Given the description of an element on the screen output the (x, y) to click on. 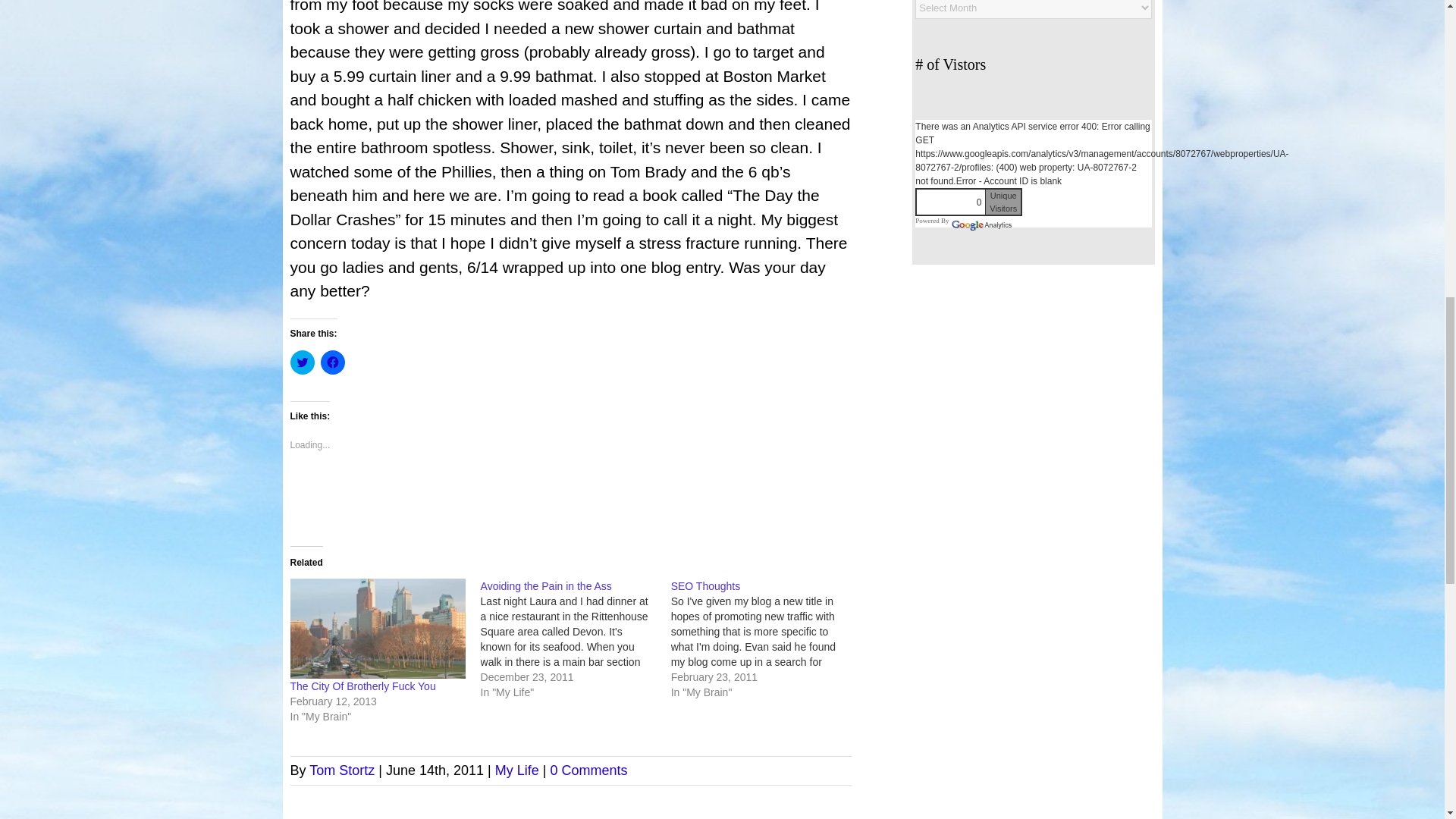
Like or Reblog (570, 493)
SEO Thoughts (706, 585)
Avoiding the Pain in the Ass (545, 585)
Click to share on Twitter (301, 362)
Click to share on Facebook (331, 362)
The City Of Brotherly Fuck You (362, 686)
Tom Stortz (341, 770)
0 Comments (588, 770)
My Life (516, 770)
